Given the description of an element on the screen output the (x, y) to click on. 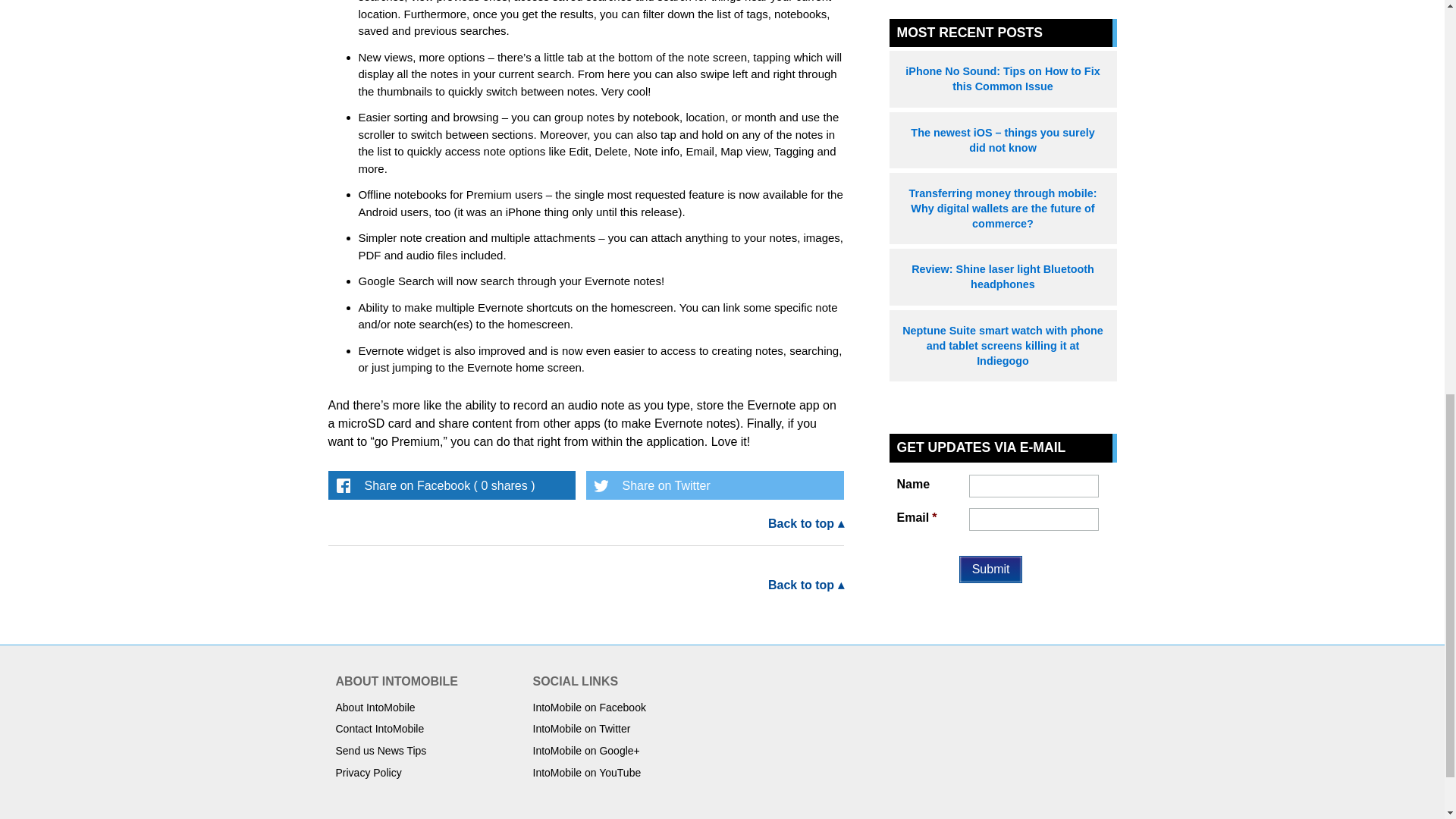
Submit (991, 569)
Share on Twitter (714, 484)
Share on Twitter (714, 484)
